Given the description of an element on the screen output the (x, y) to click on. 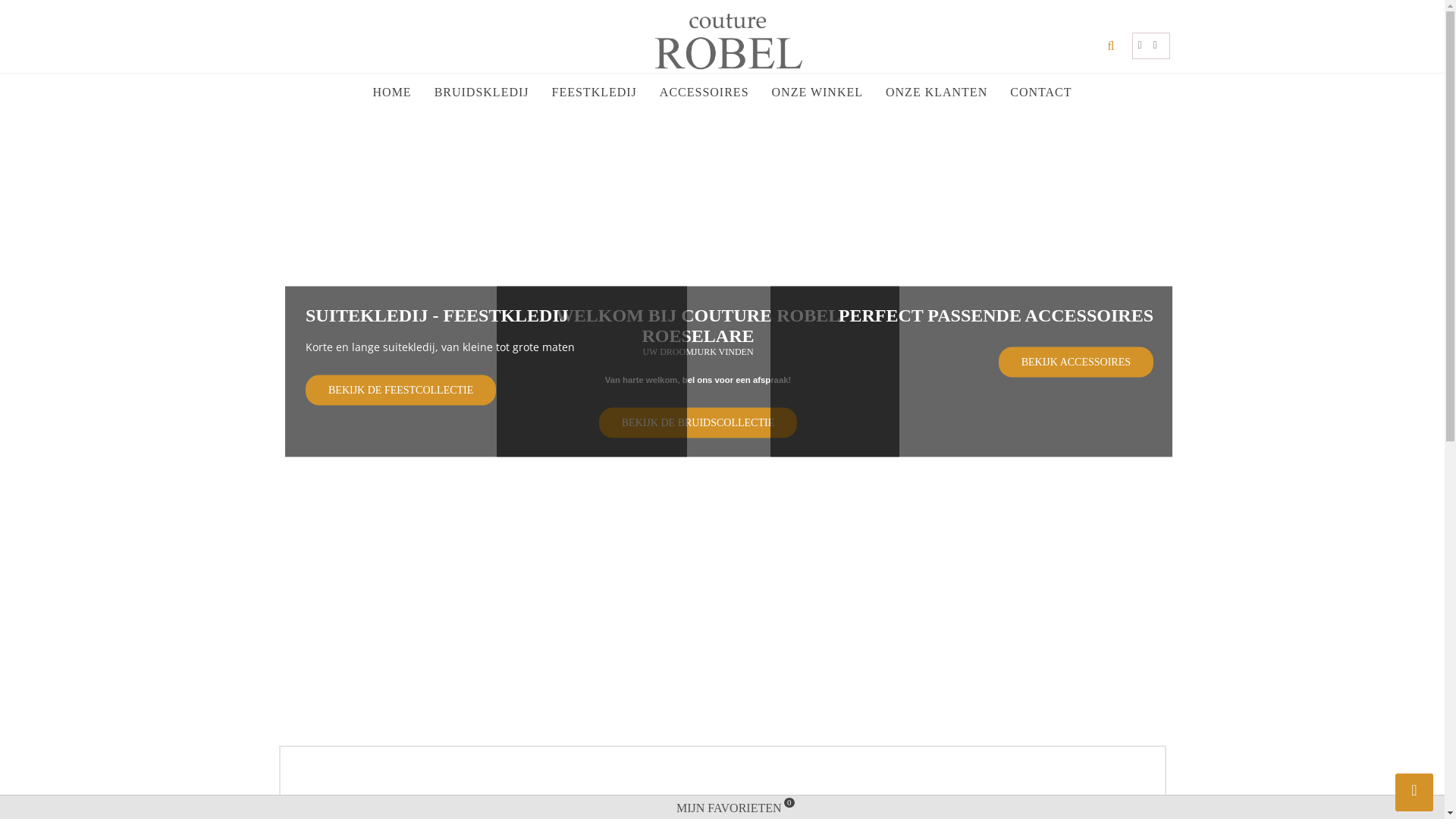
CONTACT Element type: text (1040, 91)
BEKIJK DE FEESTCOLLECTIE Element type: text (400, 389)
ONZE WINKEL Element type: text (817, 91)
ONZE KLANTEN Element type: text (936, 91)
ACCESSOIRES Element type: text (704, 91)
HOME Element type: text (392, 91)
BEKIJK ACCESSOIRES Element type: text (1075, 361)
bel ons voor een afspraak Element type: text (735, 378)
FEESTKLEDIJ Element type: text (594, 91)
BRUIDSKLEDIJ Element type: text (481, 91)
BEKIJK DE BRUIDSCOLLECTIE Element type: text (698, 422)
